Given the description of an element on the screen output the (x, y) to click on. 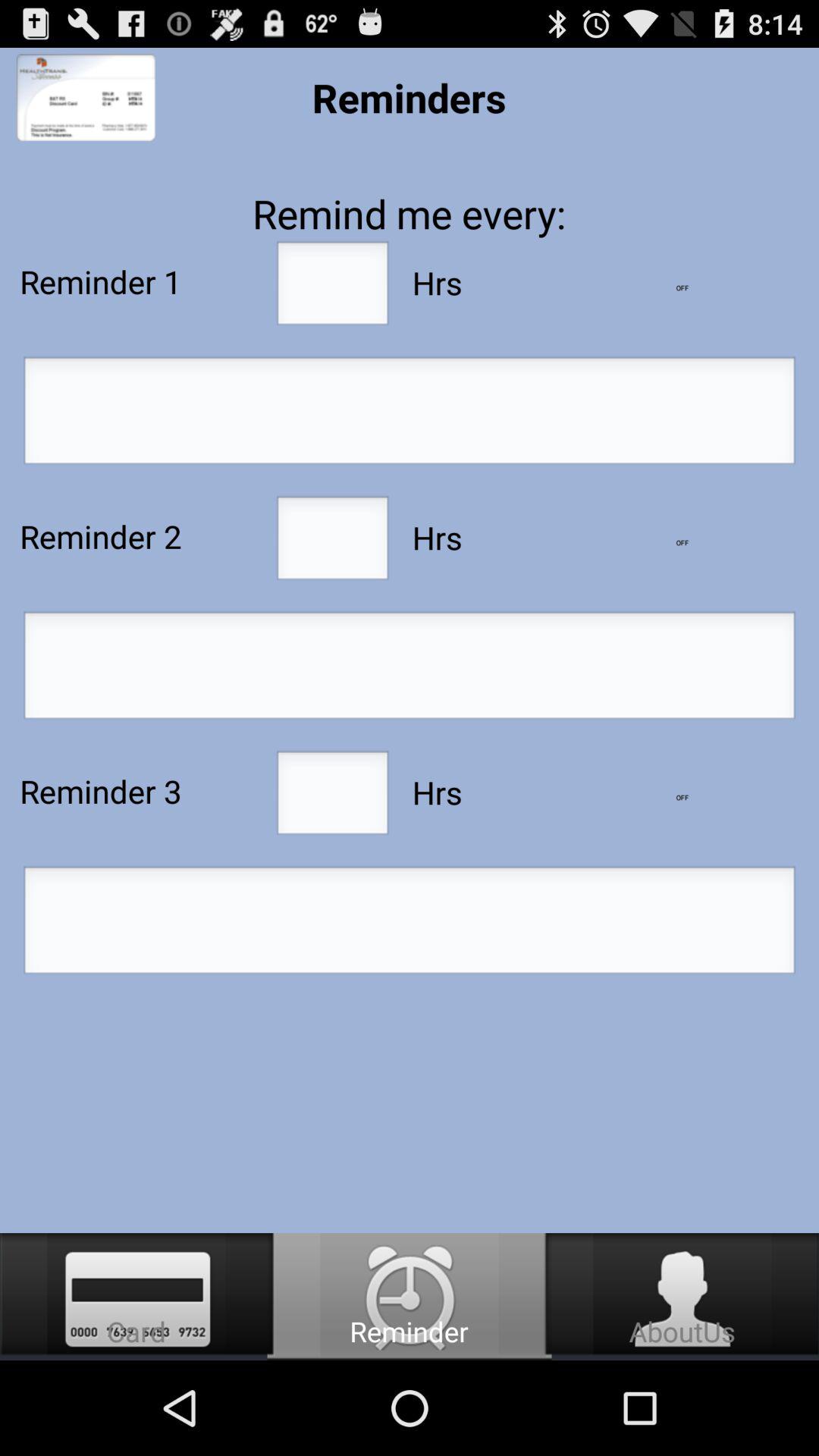
choose reminder in hours (332, 542)
